Given the description of an element on the screen output the (x, y) to click on. 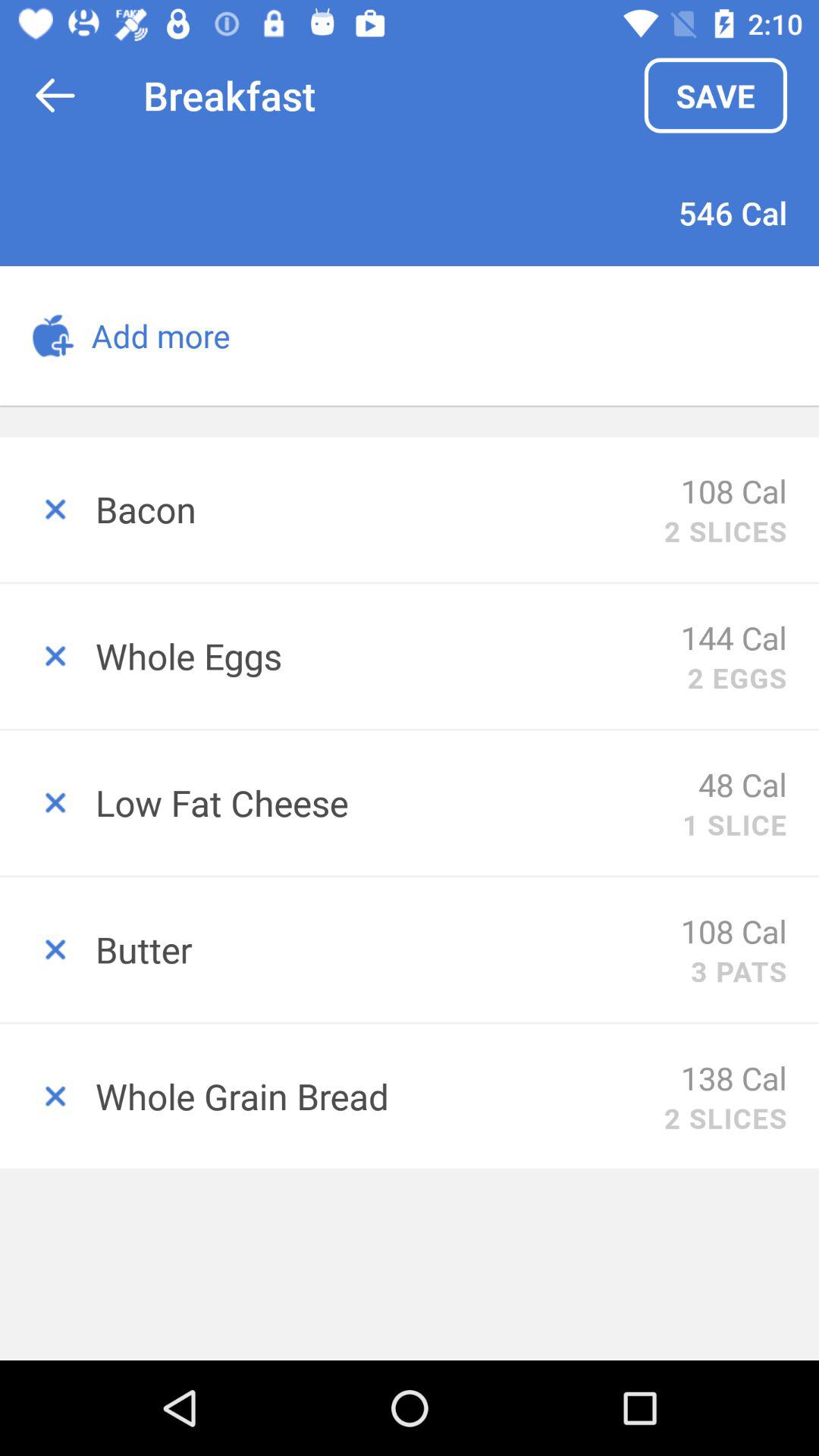
open whole eggs icon (387, 656)
